Given the description of an element on the screen output the (x, y) to click on. 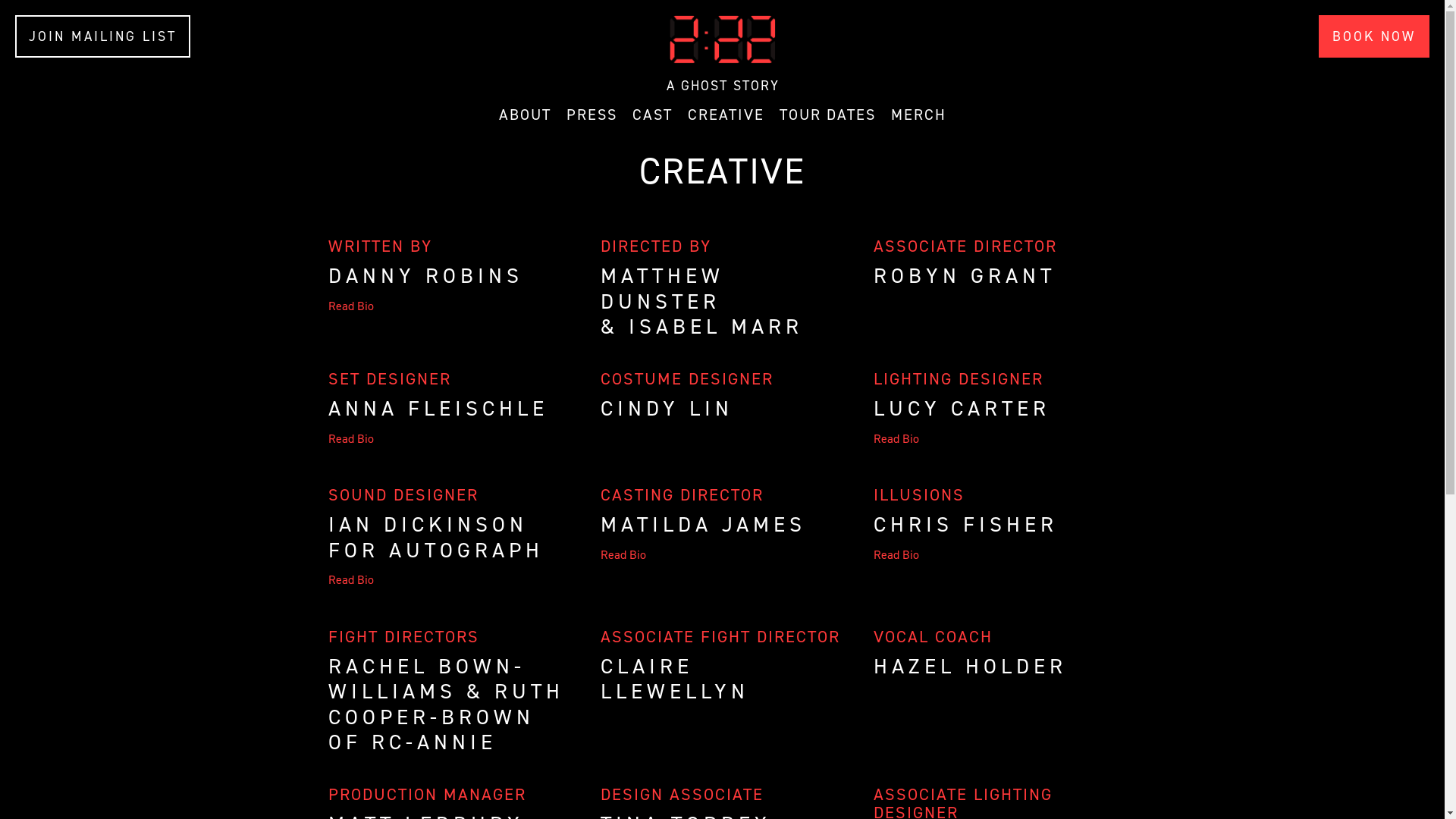
Read Bio Element type: text (994, 438)
A GHOST STORY Element type: text (721, 53)
CAST Element type: text (652, 114)
CREATIVE Element type: text (725, 114)
Read Bio Element type: text (448, 438)
BOOK NOW Element type: text (1373, 36)
PRESS Element type: text (590, 114)
TOUR DATES Element type: text (827, 114)
MERCH Element type: text (917, 114)
Read Bio Element type: text (994, 554)
ABOUT Element type: text (524, 114)
JOIN MAILING LIST Element type: text (102, 36)
Read Bio Element type: text (448, 305)
Read Bio Element type: text (448, 579)
Read Bio Element type: text (721, 554)
